Given the description of an element on the screen output the (x, y) to click on. 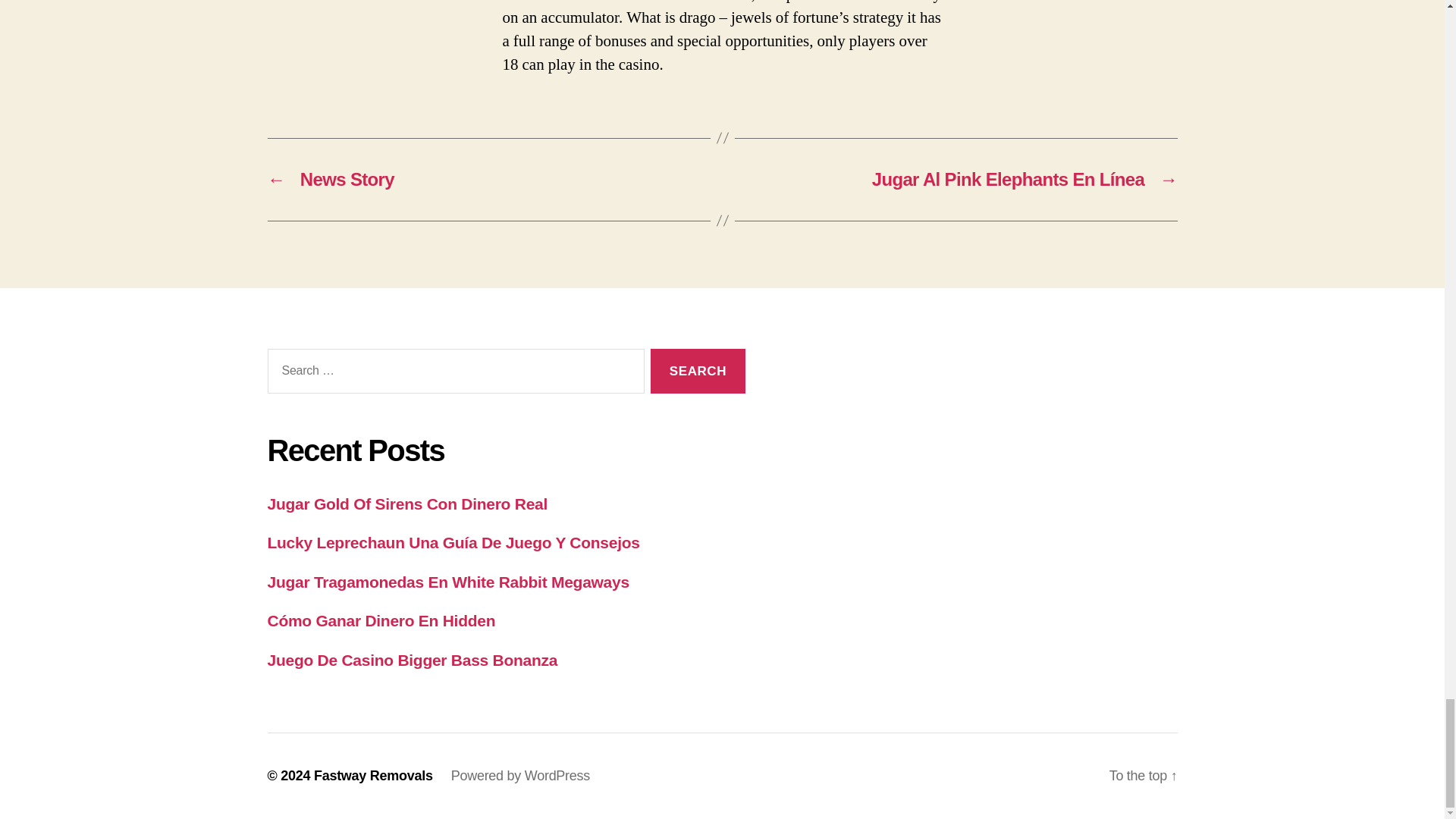
Search (697, 370)
Powered by WordPress (520, 775)
Jugar Gold Of Sirens Con Dinero Real (406, 503)
Fastway Removals (373, 775)
Juego De Casino Bigger Bass Bonanza (411, 660)
Search (697, 370)
Jugar Tragamonedas En White Rabbit Megaways (447, 581)
Search (697, 370)
